Given the description of an element on the screen output the (x, y) to click on. 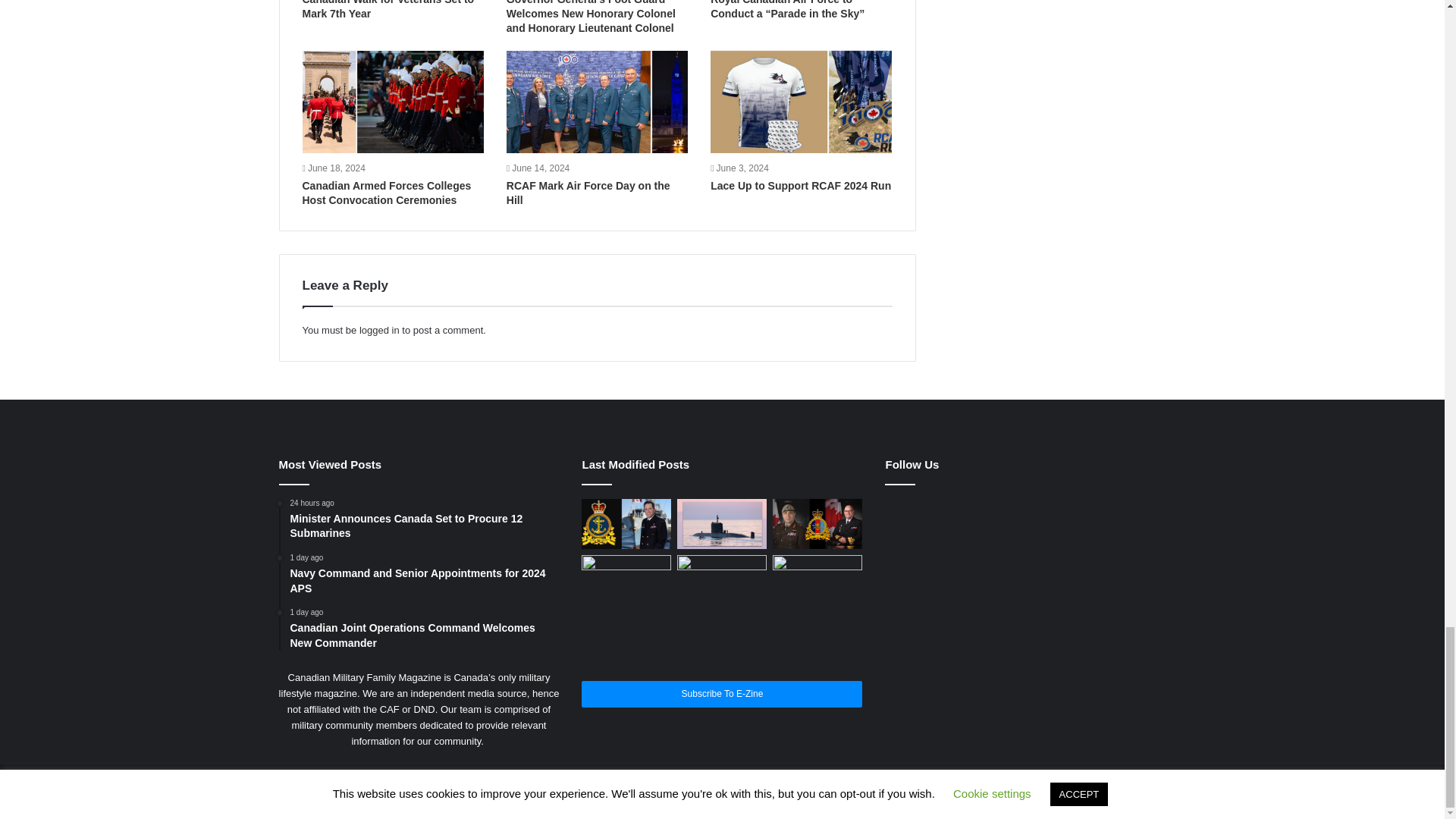
Canadian Walk for Veterans Set to Mark 7th Year (387, 9)
Lace Up to Support RCAF 2024 Run (800, 185)
Canadian Armed Forces Colleges Host Convocation Ceremonies (385, 192)
RCAF Mark Air Force Day on the Hill (587, 192)
